Given the description of an element on the screen output the (x, y) to click on. 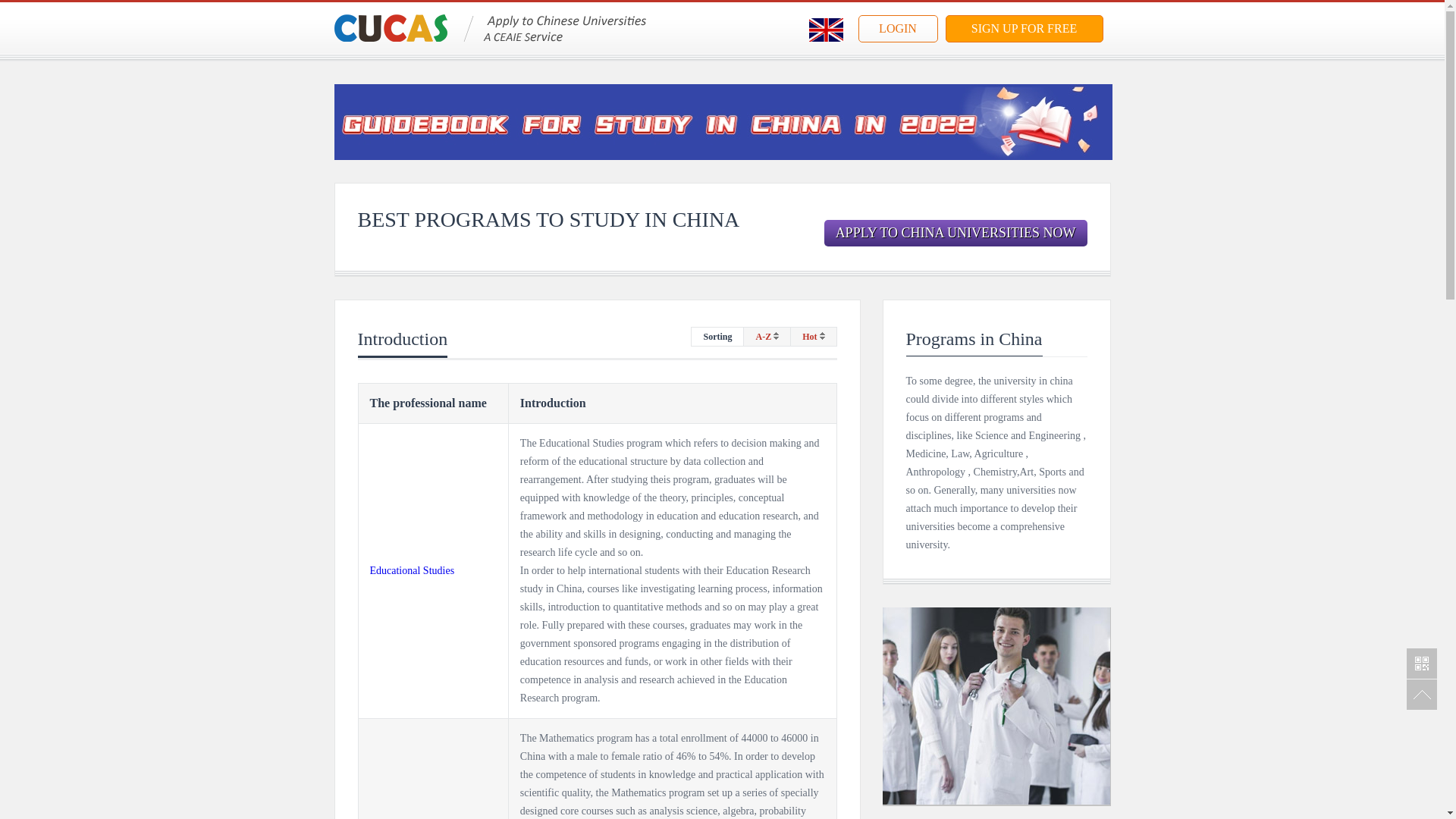
APPLY TO CHINA UNIVERSITIES NOW (955, 233)
Educational Studies (411, 570)
SIGN UP FOR FREE (1024, 28)
Hot (812, 336)
A-Z (767, 336)
LOGIN (898, 28)
